Given the description of an element on the screen output the (x, y) to click on. 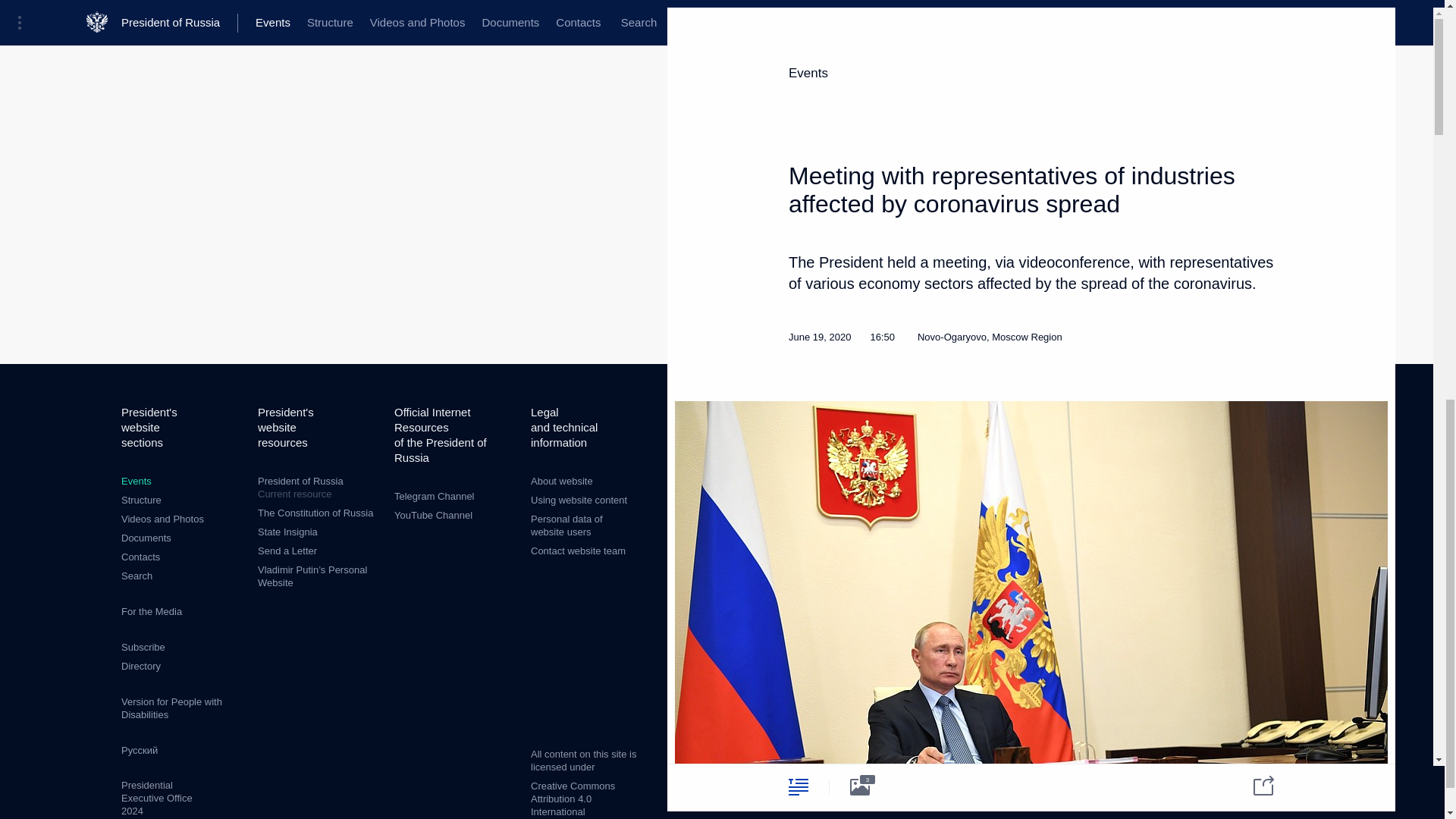
Contact website team (578, 550)
Version for People with Disabilities (171, 708)
Videos and Photos (161, 518)
Directory (140, 665)
Send a Letter (287, 550)
Anton Vaino (1026, 109)
Contacts (140, 556)
Events (135, 480)
Telegram Channel (434, 496)
Using website content (579, 500)
